Given the description of an element on the screen output the (x, y) to click on. 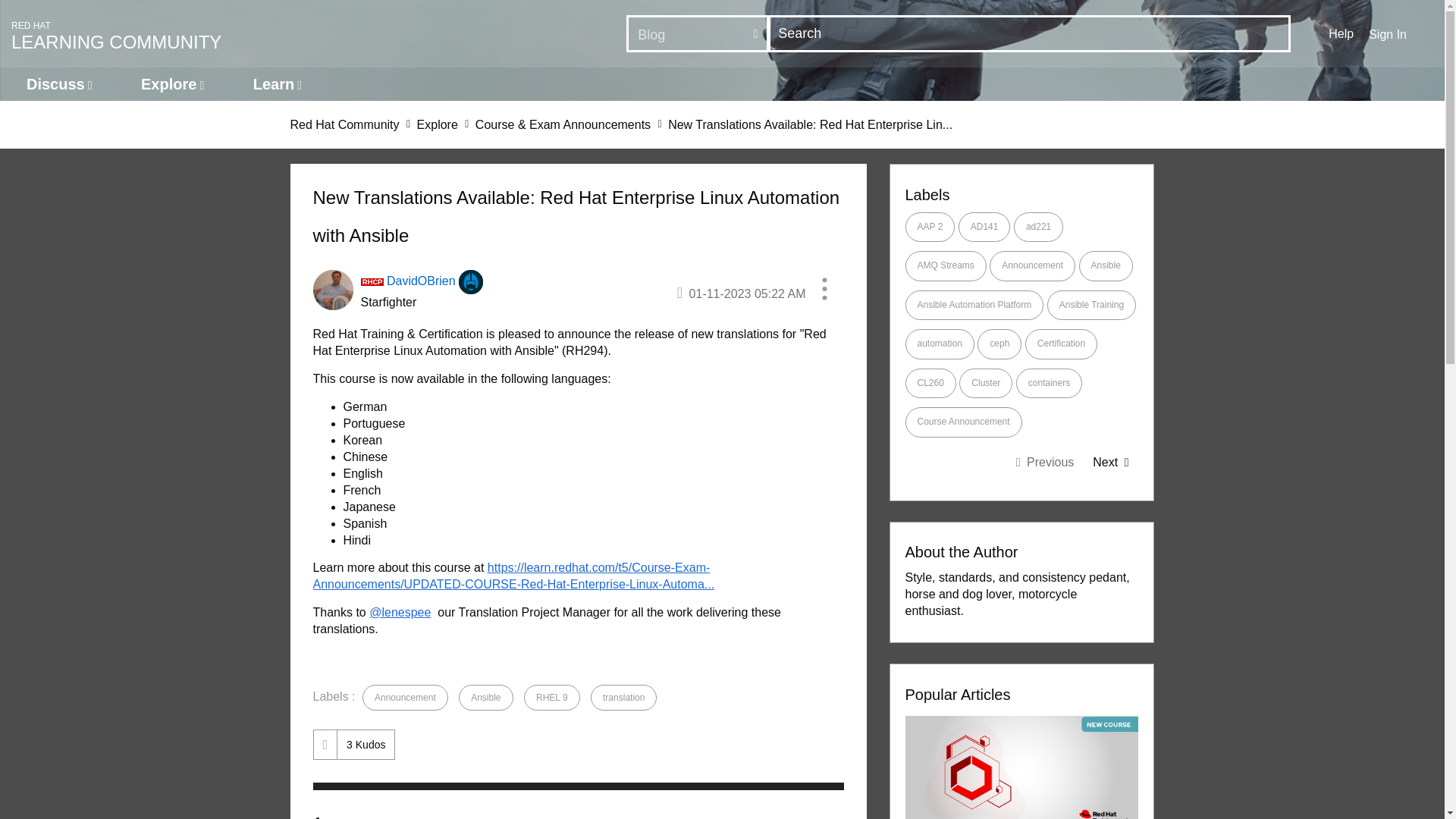
Posted on (741, 293)
Show option menu (824, 290)
Search (17, 18)
Explore (437, 124)
DavidOBrien (421, 280)
Search (1029, 33)
Search Granularity (697, 33)
Click here to see who gave kudos to this post. (365, 743)
Red Hat Community (343, 124)
Learn (277, 83)
Discuss (59, 83)
Explore (172, 83)
DavidOBrien (332, 290)
Starfighter (470, 282)
